Given the description of an element on the screen output the (x, y) to click on. 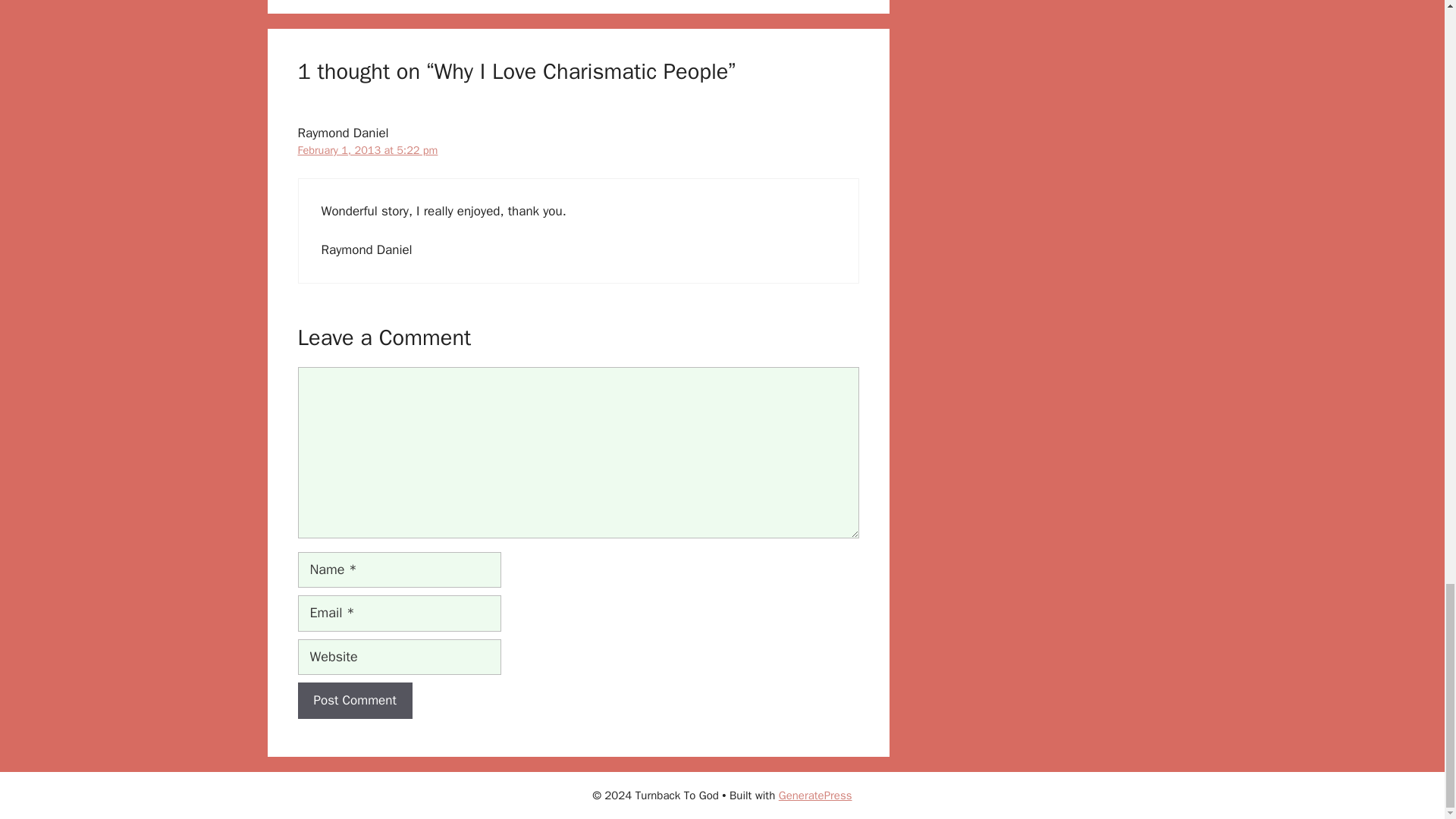
Post Comment (354, 565)
February 1, 2013 at 5:22 pm (367, 14)
Post Comment (354, 565)
